Given the description of an element on the screen output the (x, y) to click on. 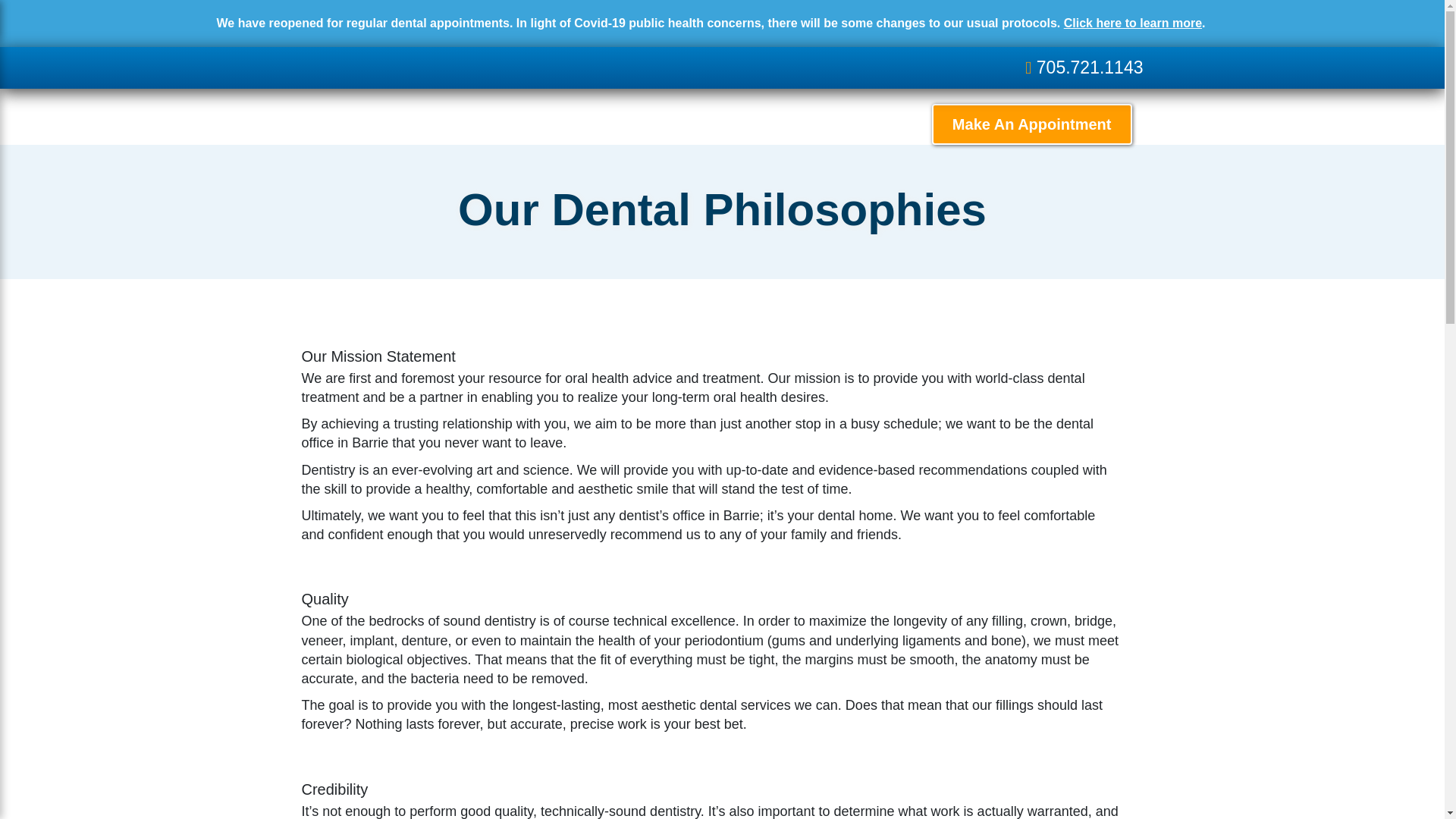
Make An Appointment (1031, 124)
705.721.1143 (1083, 67)
Click here to learn more (1133, 22)
